Given the description of an element on the screen output the (x, y) to click on. 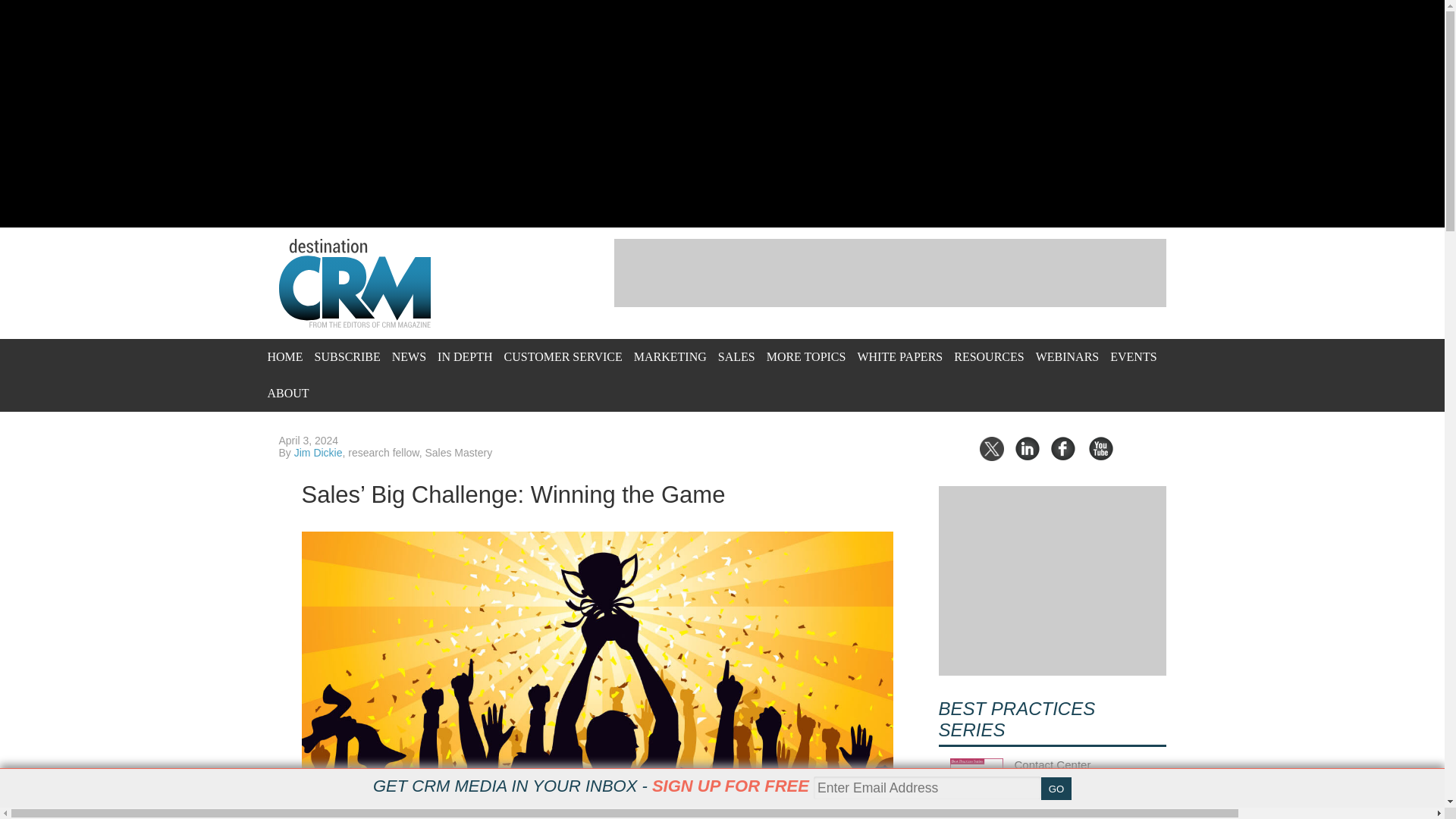
HOME (284, 357)
NEWS (408, 357)
Sales (736, 357)
Customer Service (563, 357)
CUSTOMER SERVICE (563, 357)
SUBSCRIBE (347, 357)
GO (1056, 788)
IN DEPTH (465, 357)
GET CRM MEDIA IN YOUR INBOX - SIGN UP FOR FREE (590, 786)
MORE TOPICS (806, 357)
RESOURCES (988, 357)
Marketing (669, 357)
MARKETING (669, 357)
SALES (736, 357)
